Given the description of an element on the screen output the (x, y) to click on. 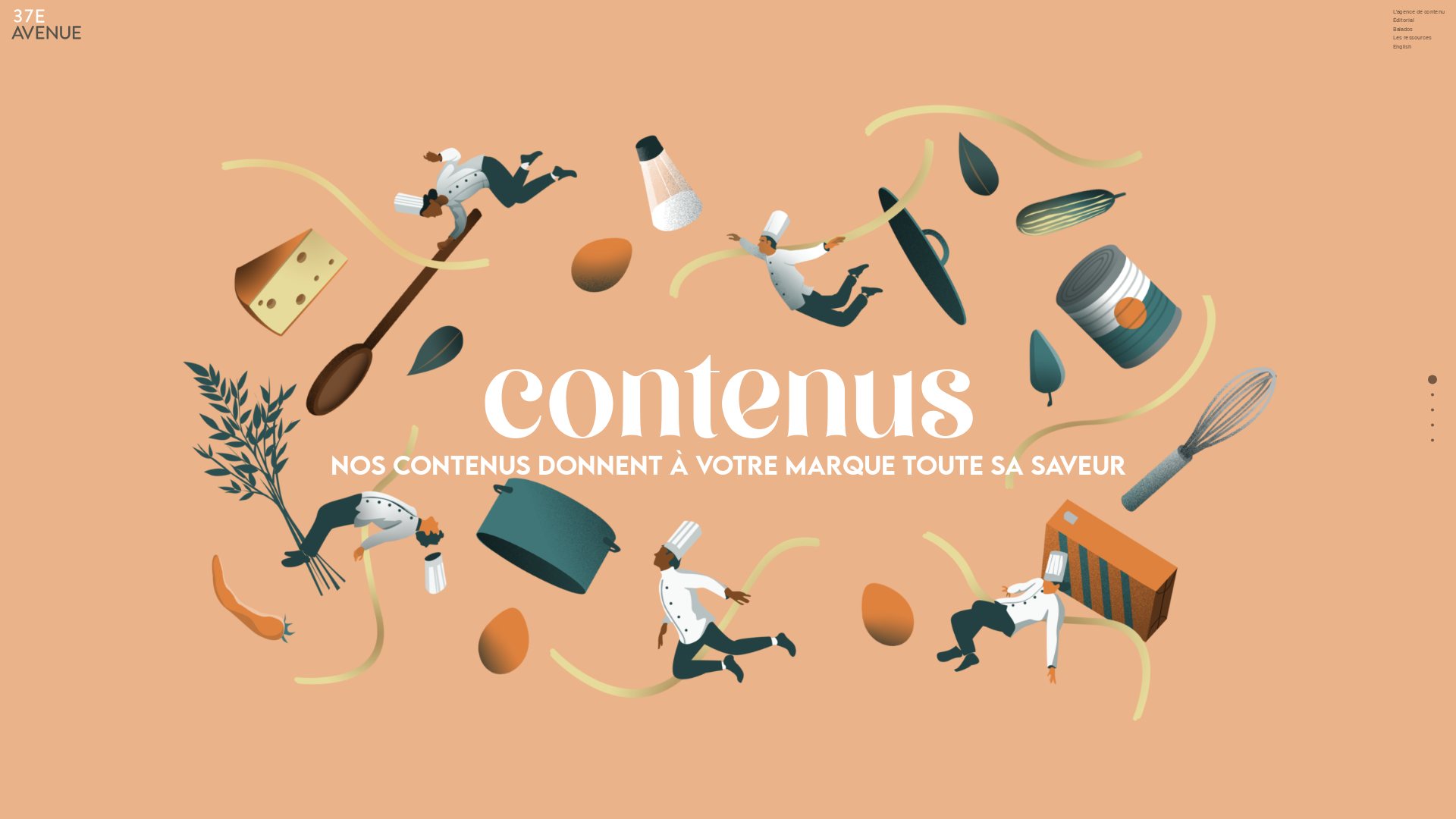
Contenus Element type: text (1432, 379)
Clients Element type: text (1432, 424)
Balados Element type: text (1432, 409)
Menu Element type: text (1432, 440)
